Given the description of an element on the screen output the (x, y) to click on. 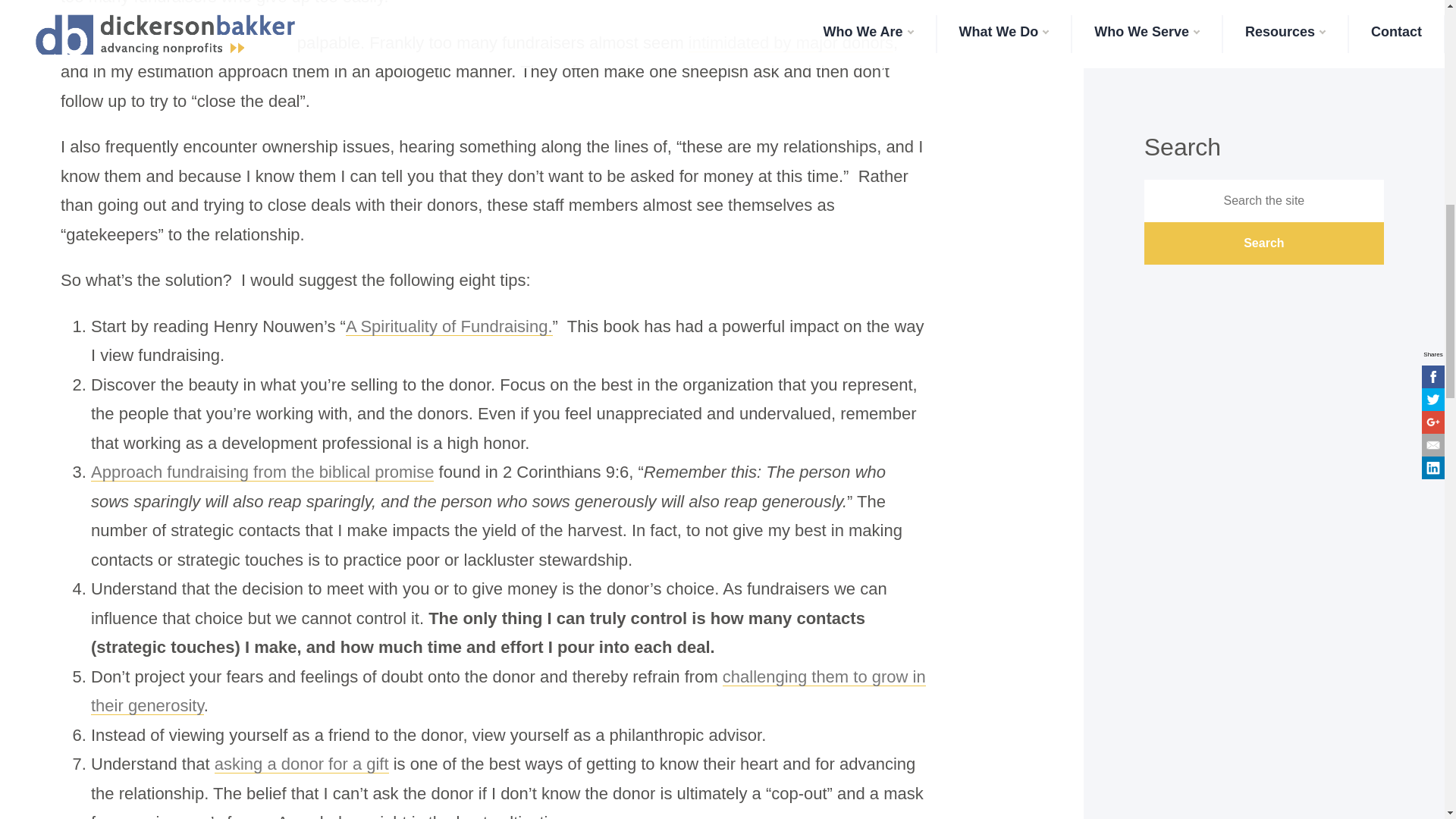
A Spirituality of Fundraising. (449, 325)
asking a donor for a gift (301, 763)
challenging them to grow in their generosity (508, 691)
Approach fundraising from the biblical promise (261, 471)
Search (1264, 242)
intimidated by major donors (790, 42)
